Given the description of an element on the screen output the (x, y) to click on. 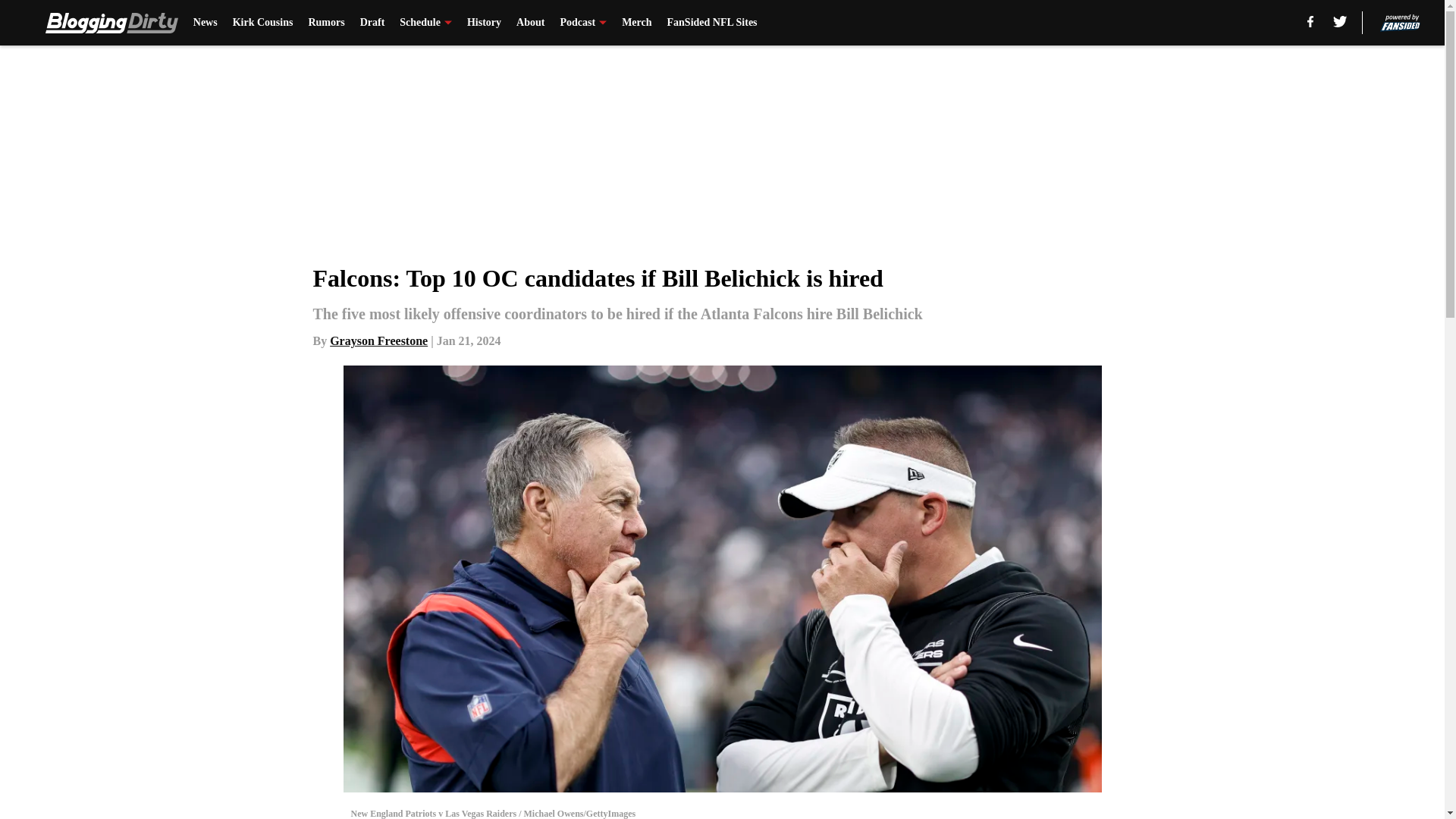
History (483, 22)
FanSided NFL Sites (711, 22)
News (204, 22)
Draft (372, 22)
Rumors (325, 22)
Merch (635, 22)
Kirk Cousins (263, 22)
About (530, 22)
Grayson Freestone (379, 340)
